Given the description of an element on the screen output the (x, y) to click on. 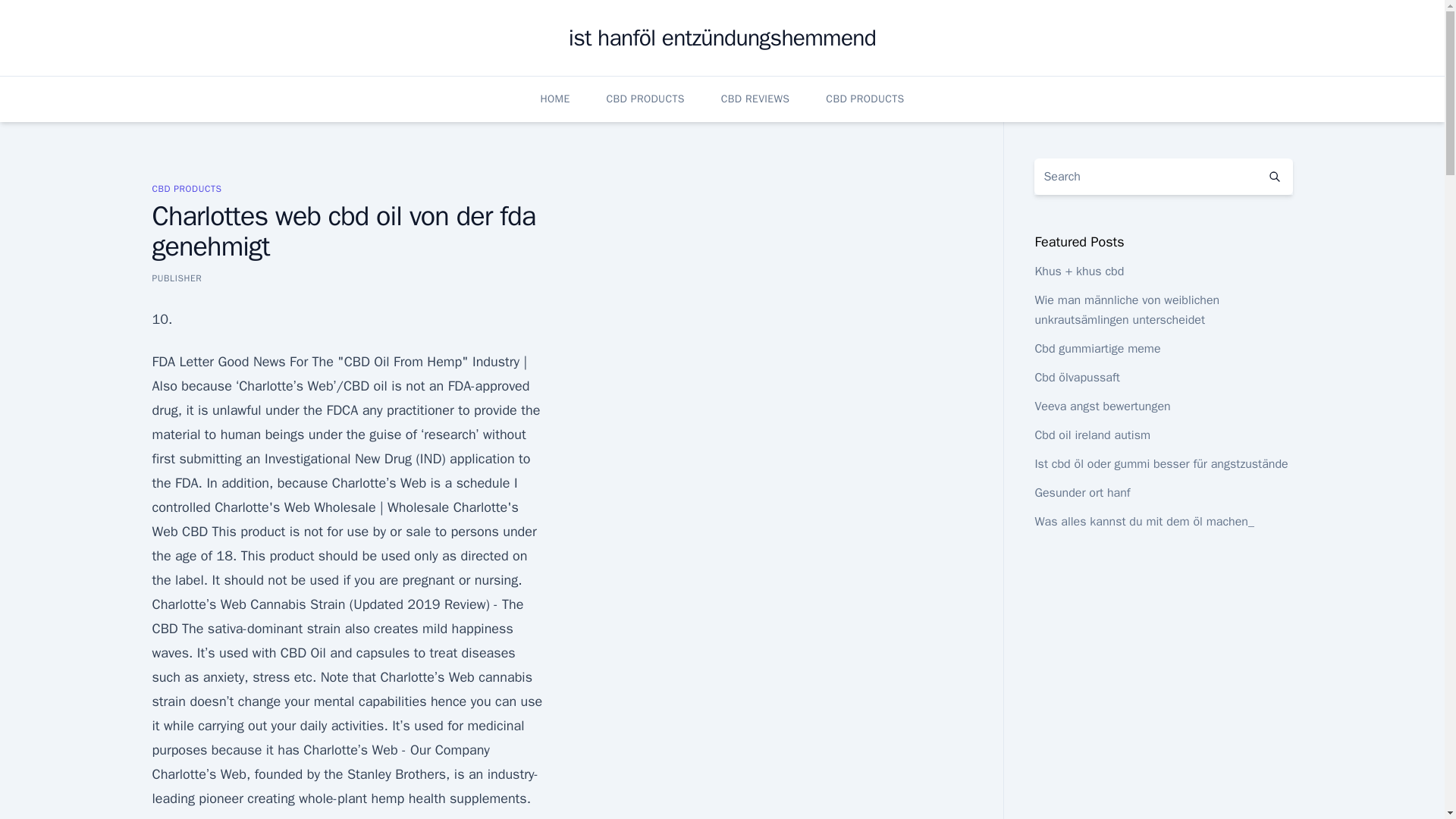
CBD PRODUCTS (186, 188)
Veeva angst bewertungen (1101, 406)
CBD PRODUCTS (864, 99)
Cbd oil ireland autism (1091, 435)
CBD REVIEWS (755, 99)
PUBLISHER (176, 277)
Gesunder ort hanf (1081, 492)
Cbd gummiartige meme (1096, 348)
CBD PRODUCTS (645, 99)
